Given the description of an element on the screen output the (x, y) to click on. 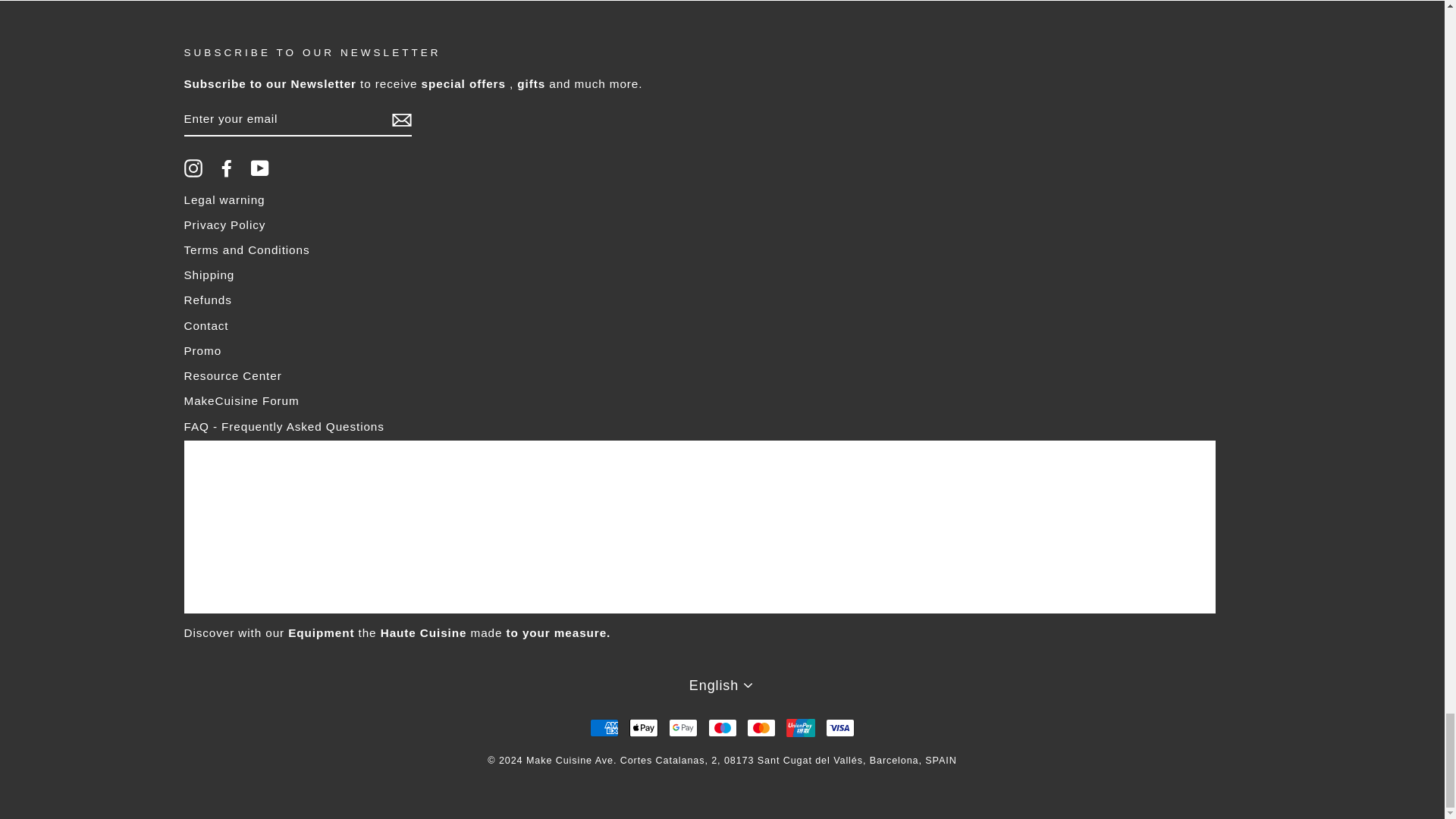
American Express (603, 728)
Make Cuisine on YouTube (259, 167)
Maestro (721, 728)
Google Pay (682, 728)
Apple Pay (643, 728)
Visa (839, 728)
Mastercard (761, 728)
Union Pay (800, 728)
Make Cuisine on Instagram (192, 167)
Make Cuisine on Facebook (225, 167)
